Given the description of an element on the screen output the (x, y) to click on. 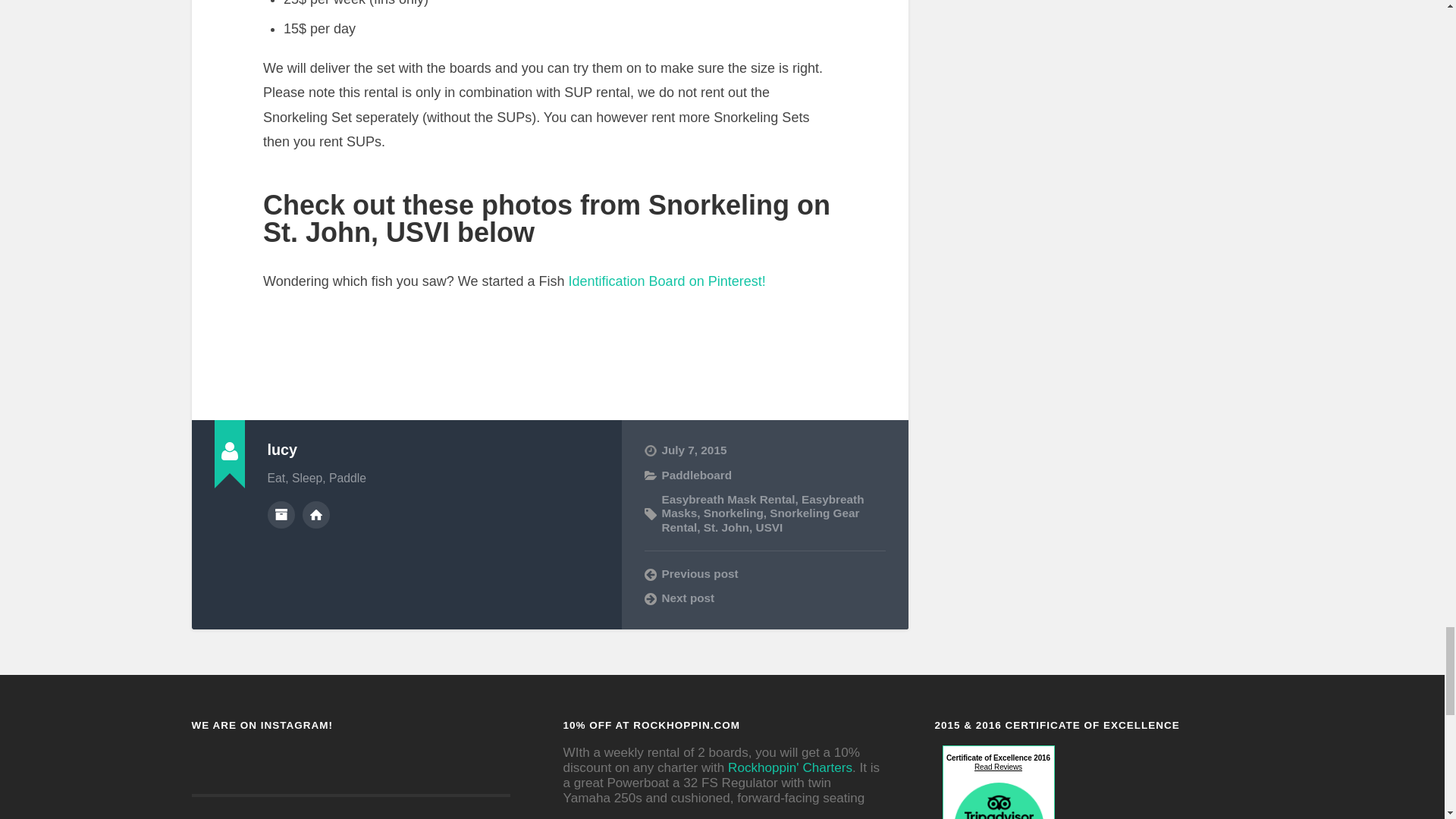
Fish Identification - Snorkeling USVI (664, 281)
Rockhoppin Charters Powerboat Charter St. John (789, 767)
